Given the description of an element on the screen output the (x, y) to click on. 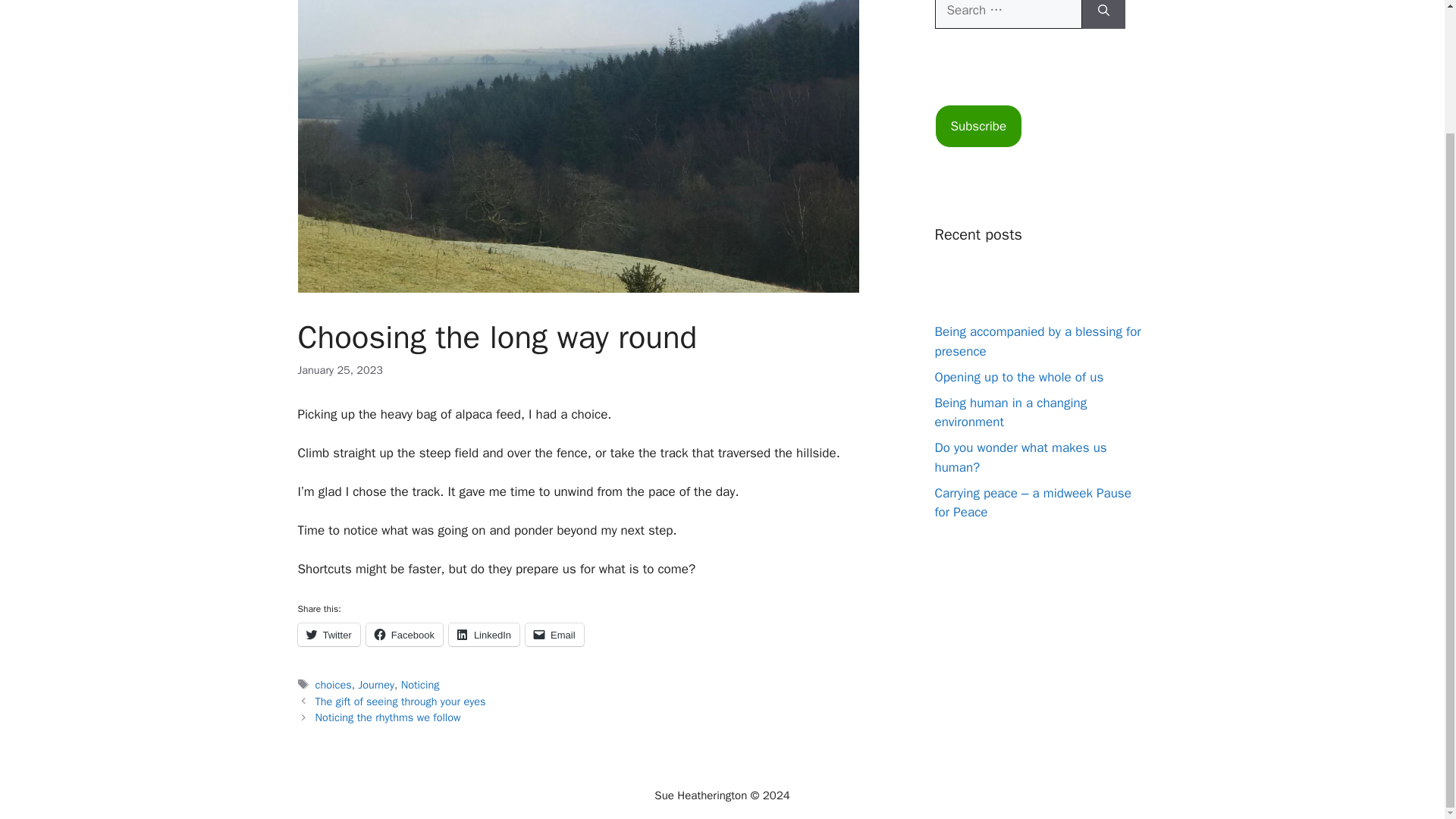
Click to email a link to a friend (554, 634)
Facebook (404, 634)
Being human in a changing environment (1010, 412)
LinkedIn (483, 634)
Twitter (328, 634)
choices (333, 684)
Noticing the rhythms we follow (388, 716)
Search for: (1007, 14)
Click to share on LinkedIn (483, 634)
Opening up to the whole of us (1018, 376)
